Given the description of an element on the screen output the (x, y) to click on. 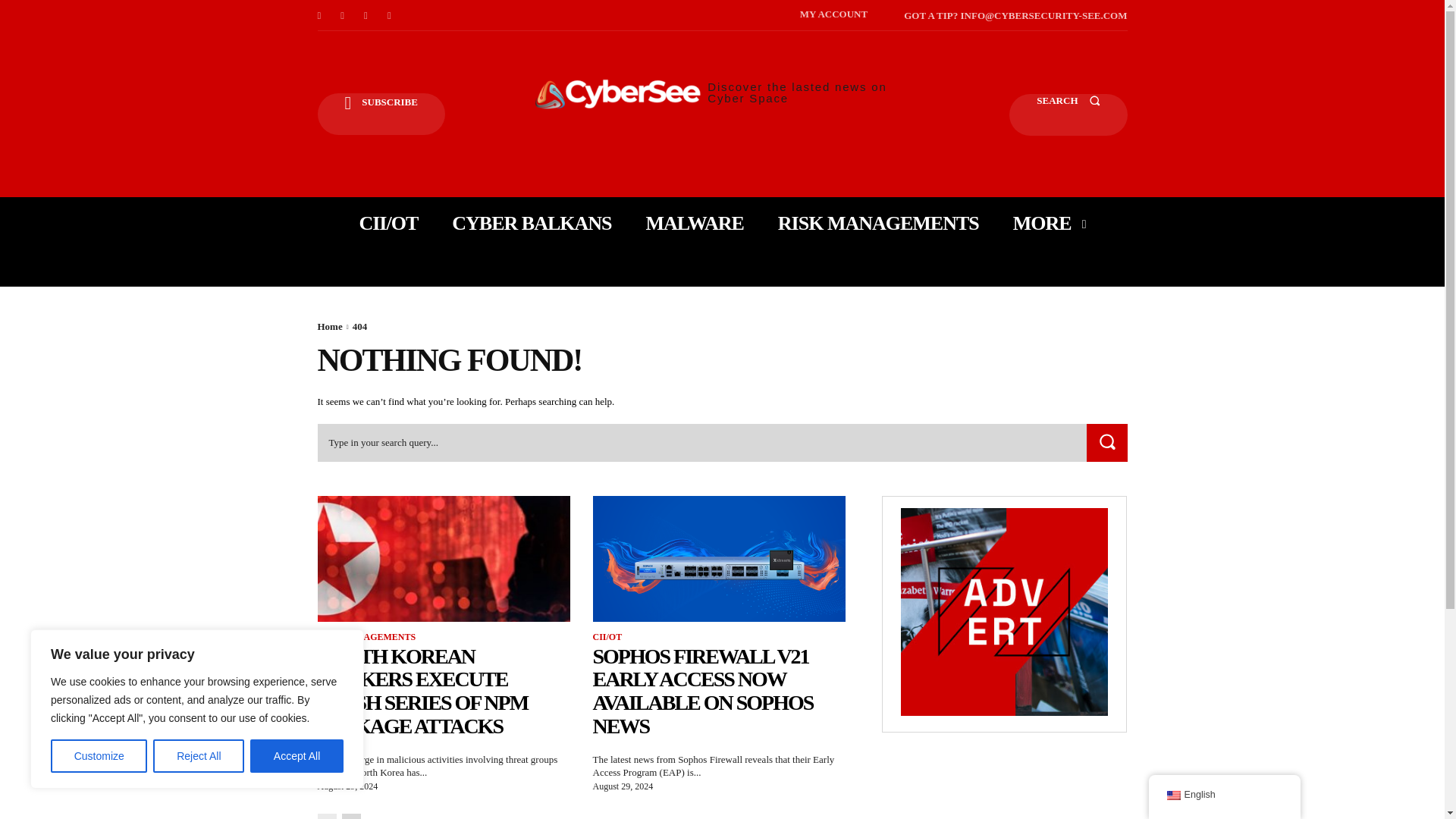
Twitter (389, 15)
Search (1067, 114)
Reject All (198, 756)
Accept All (296, 756)
Subscribe (380, 114)
Customize (98, 756)
Instagram (342, 15)
Facebook (318, 15)
